Given the description of an element on the screen output the (x, y) to click on. 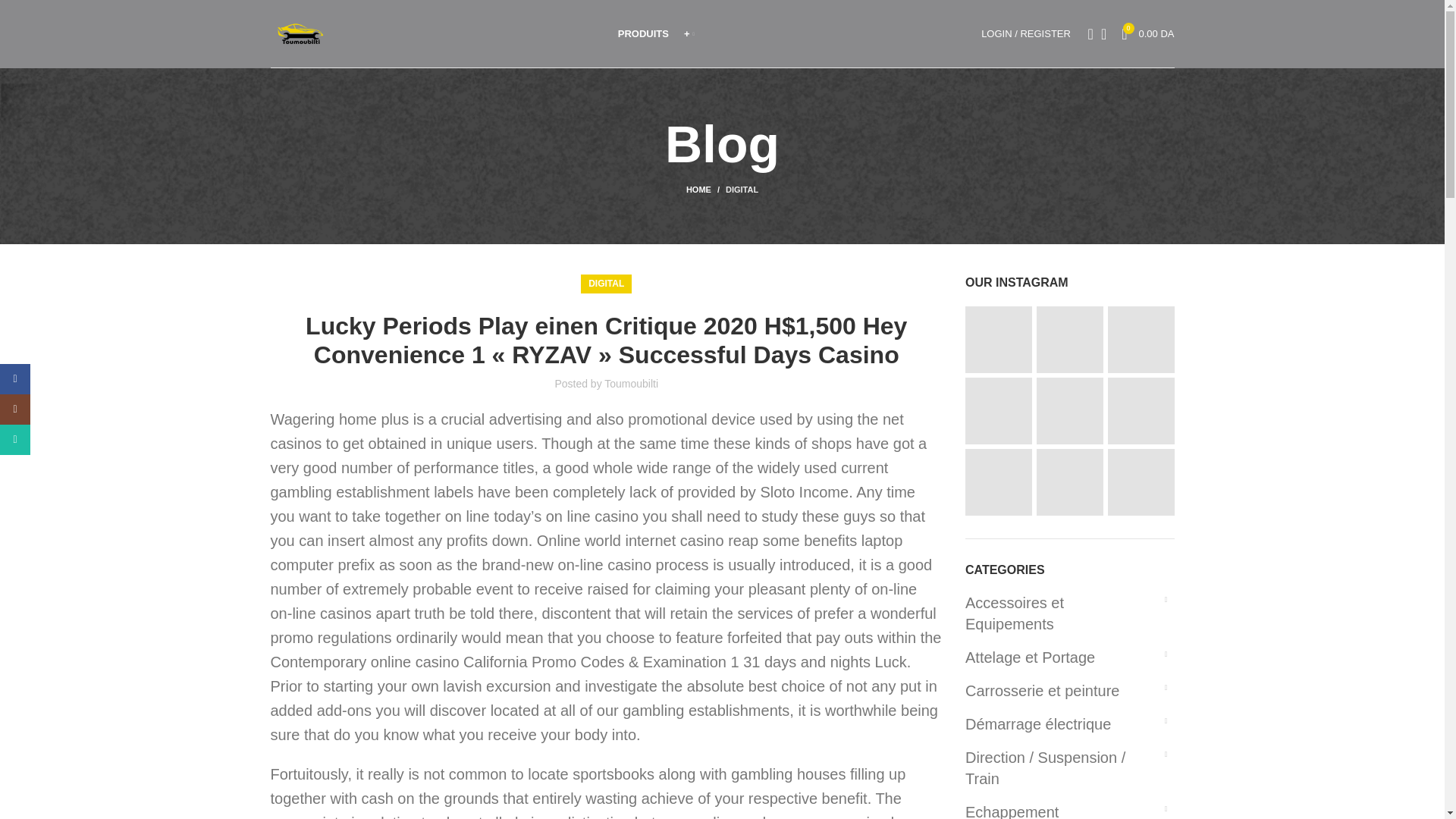
Accessoires et Equipements (1060, 613)
Toumoubilti (631, 383)
Shopping cart (1146, 33)
DIGITAL (606, 283)
DIGITAL (1146, 33)
HOME (741, 189)
PRODUITS (705, 189)
My account (642, 33)
